Given the description of an element on the screen output the (x, y) to click on. 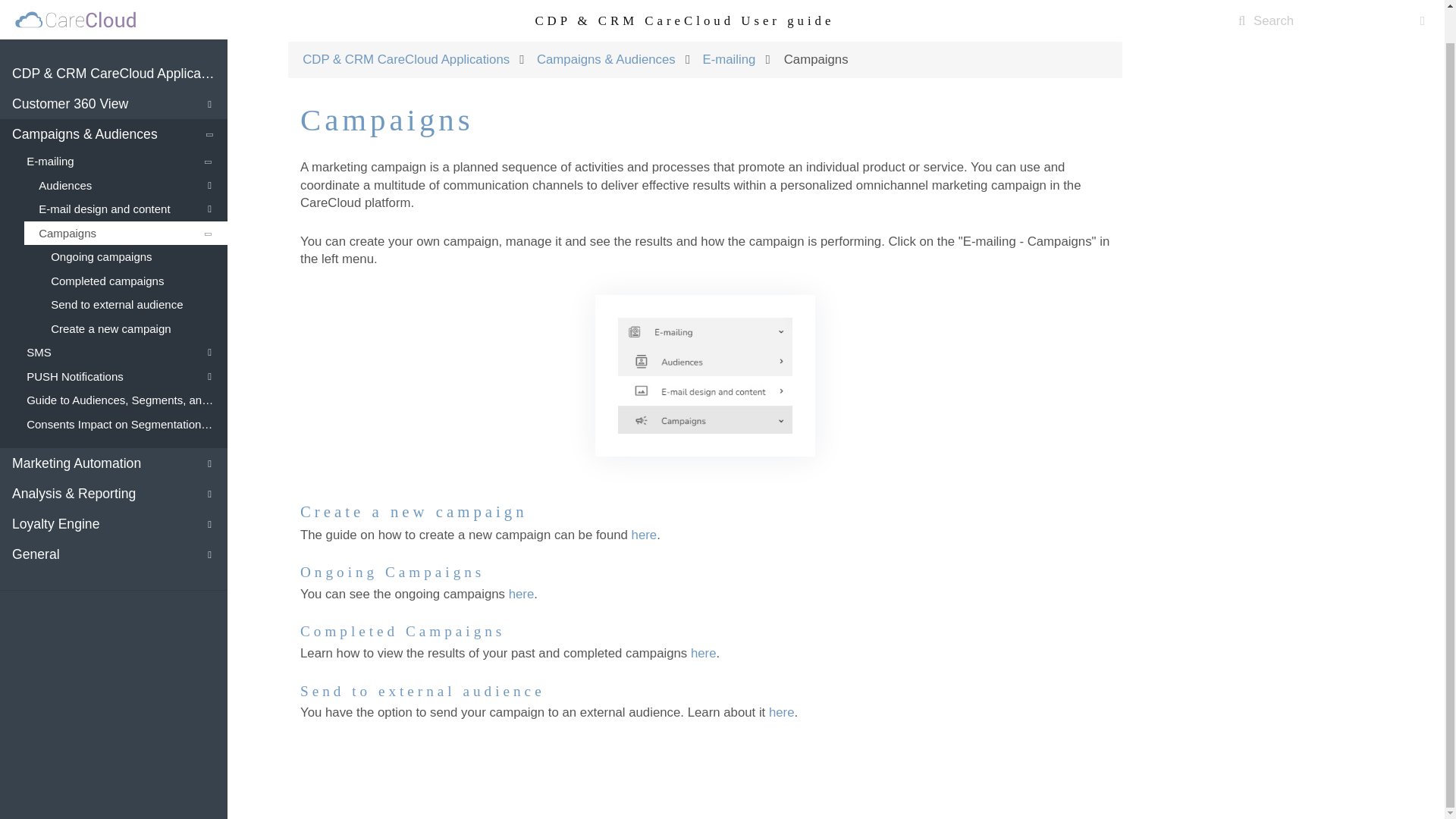
Customer 360 View (113, 69)
E-mailing (119, 127)
Audiences (125, 151)
